Given the description of an element on the screen output the (x, y) to click on. 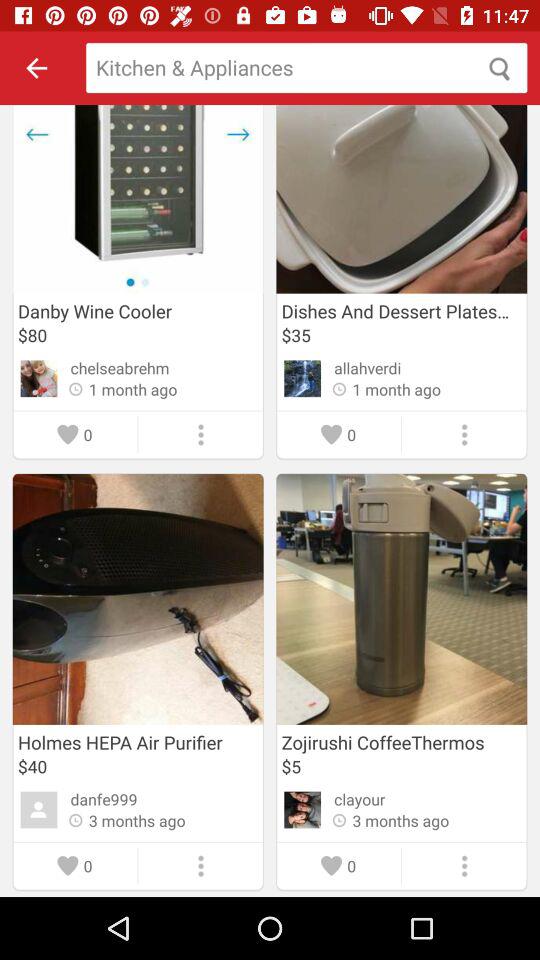
scroll until danfe999 item (103, 799)
